Given the description of an element on the screen output the (x, y) to click on. 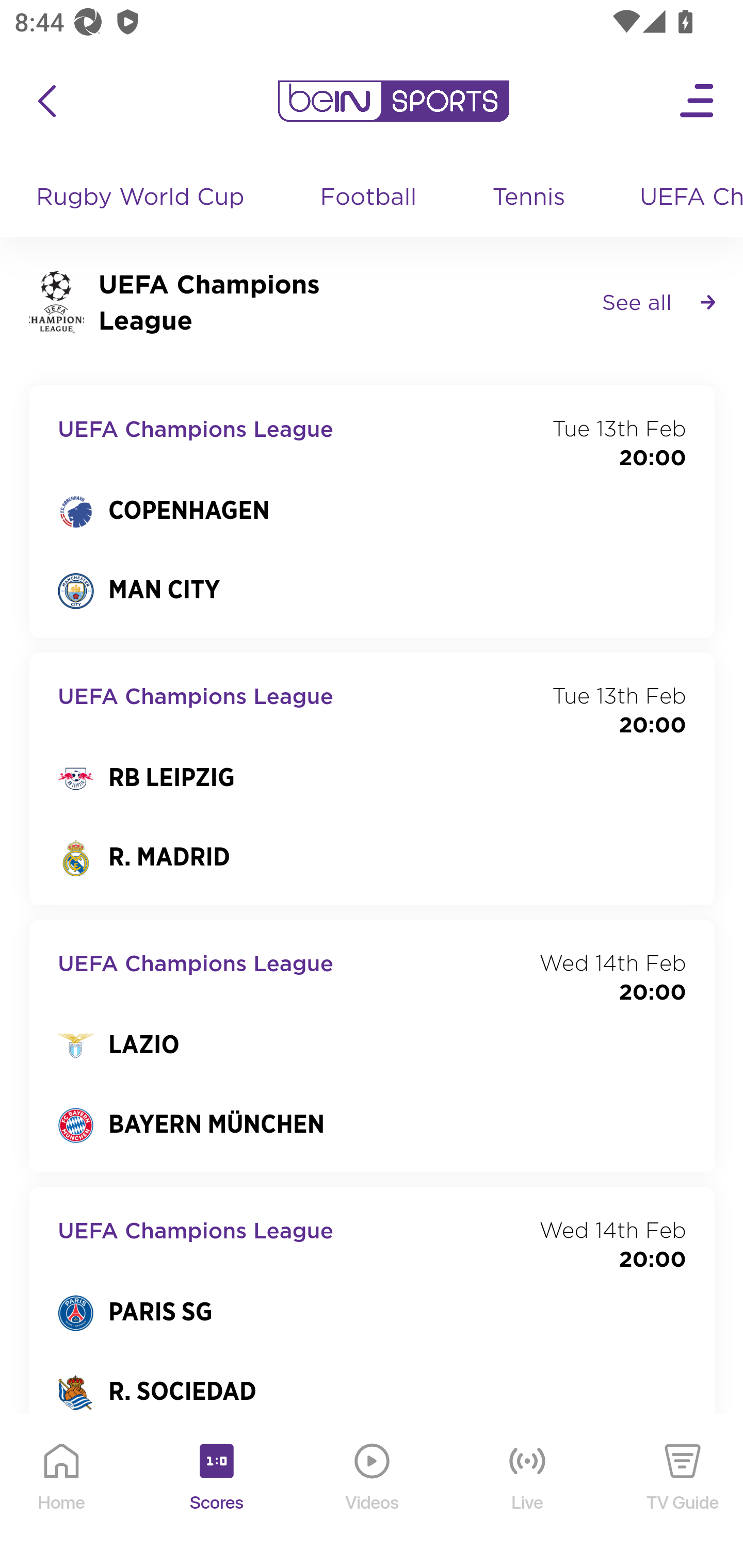
en-my?platform=mobile_android bein logo (392, 101)
icon back (46, 101)
Open Menu Icon (697, 101)
Rugby World Cup (142, 198)
Football (369, 198)
Tennis (530, 198)
UEFA Champions League (683, 198)
See all (658, 301)
Home Home Icon Home (61, 1491)
Scores Scores Icon Scores (216, 1491)
Videos Videos Icon Videos (372, 1491)
TV Guide TV Guide Icon TV Guide (682, 1491)
